Given the description of an element on the screen output the (x, y) to click on. 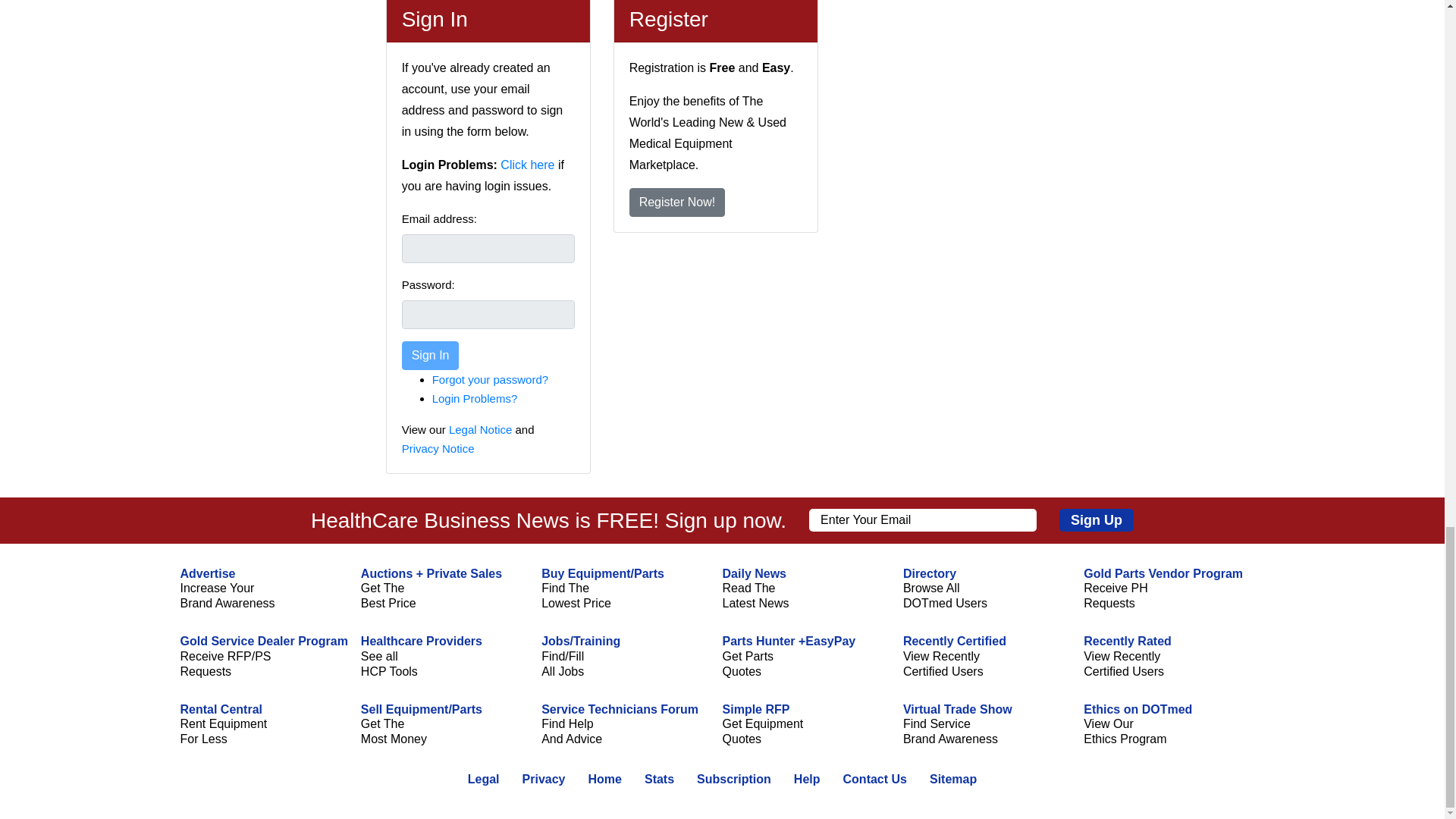
Forget your password? (490, 379)
Login Problems? (475, 398)
Sign In (430, 355)
Register Now! (676, 202)
